Given the description of an element on the screen output the (x, y) to click on. 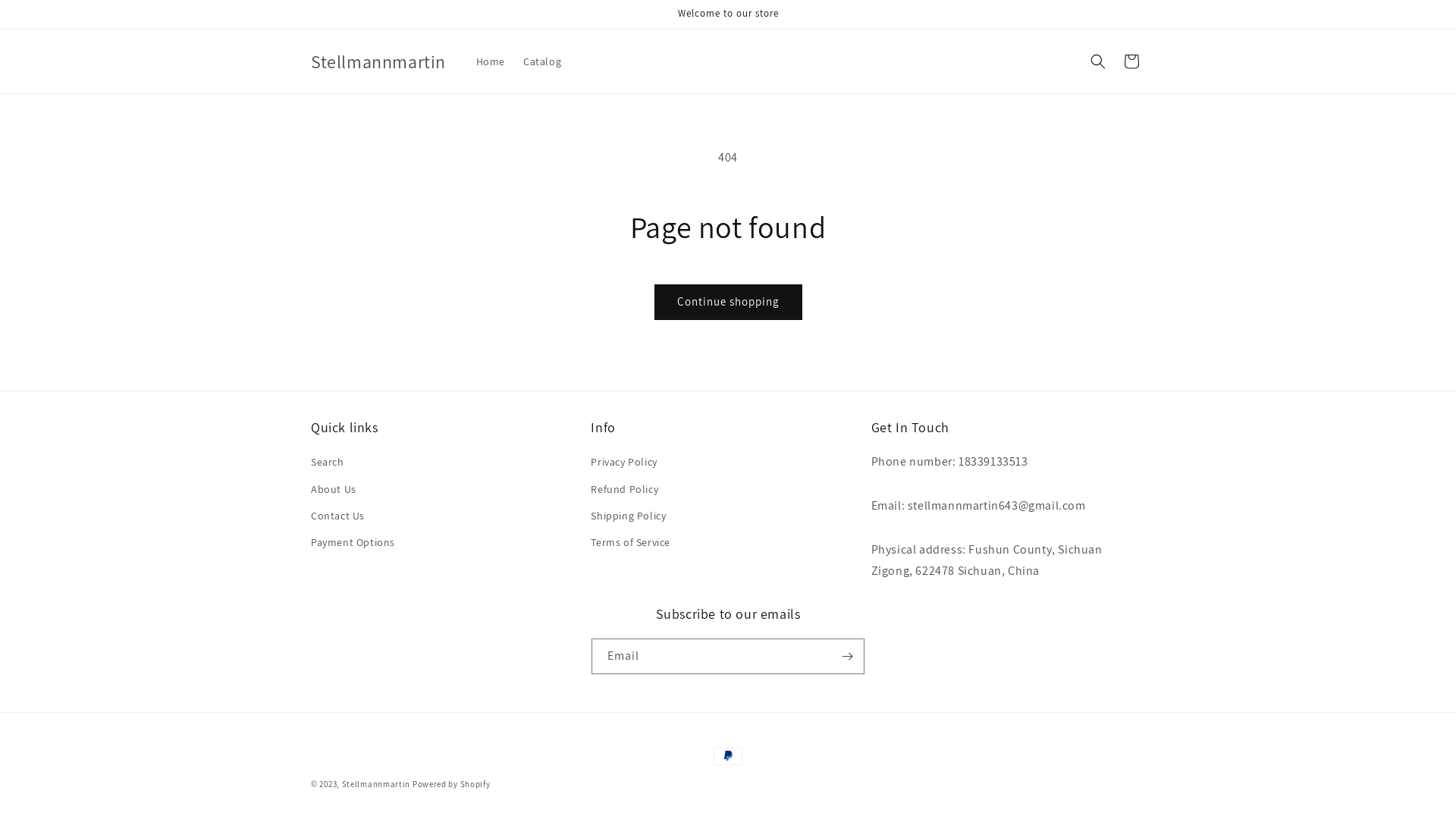
Home Element type: text (490, 61)
Catalog Element type: text (542, 61)
Cart Element type: text (1131, 61)
Contact Us Element type: text (337, 515)
Stellmannmartin Element type: text (377, 61)
Powered by Shopify Element type: text (451, 783)
Refund Policy Element type: text (624, 489)
Payment Options Element type: text (352, 542)
Search Element type: text (327, 463)
Terms of Service Element type: text (630, 542)
About Us Element type: text (333, 489)
Stellmannmartin Element type: text (376, 783)
Shipping Policy Element type: text (627, 515)
Continue shopping Element type: text (727, 302)
Privacy Policy Element type: text (623, 463)
